Given the description of an element on the screen output the (x, y) to click on. 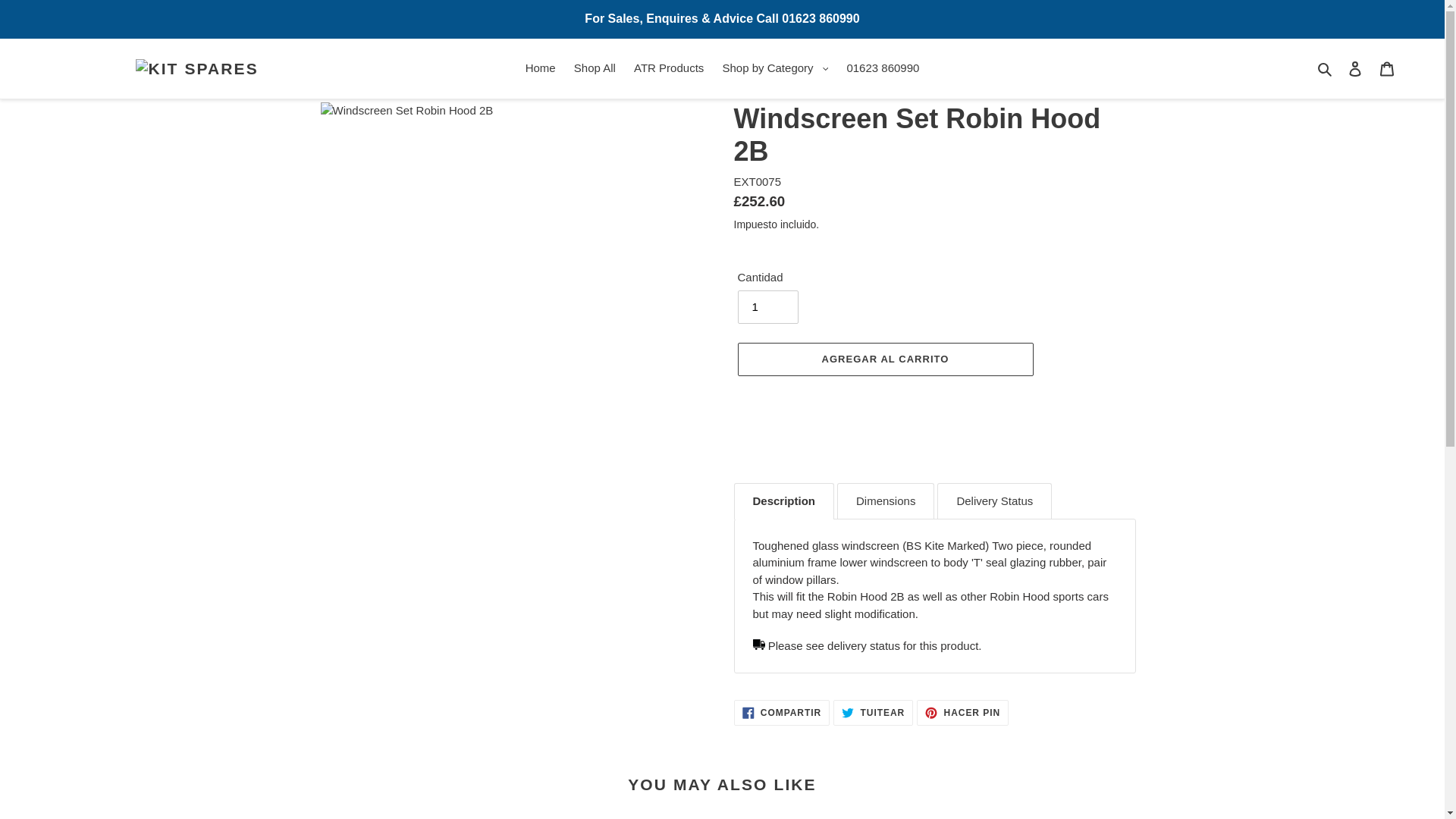
1 (766, 306)
Shop by Category (774, 68)
Shop All (594, 68)
Home (540, 68)
ATR Products (668, 68)
